Given the description of an element on the screen output the (x, y) to click on. 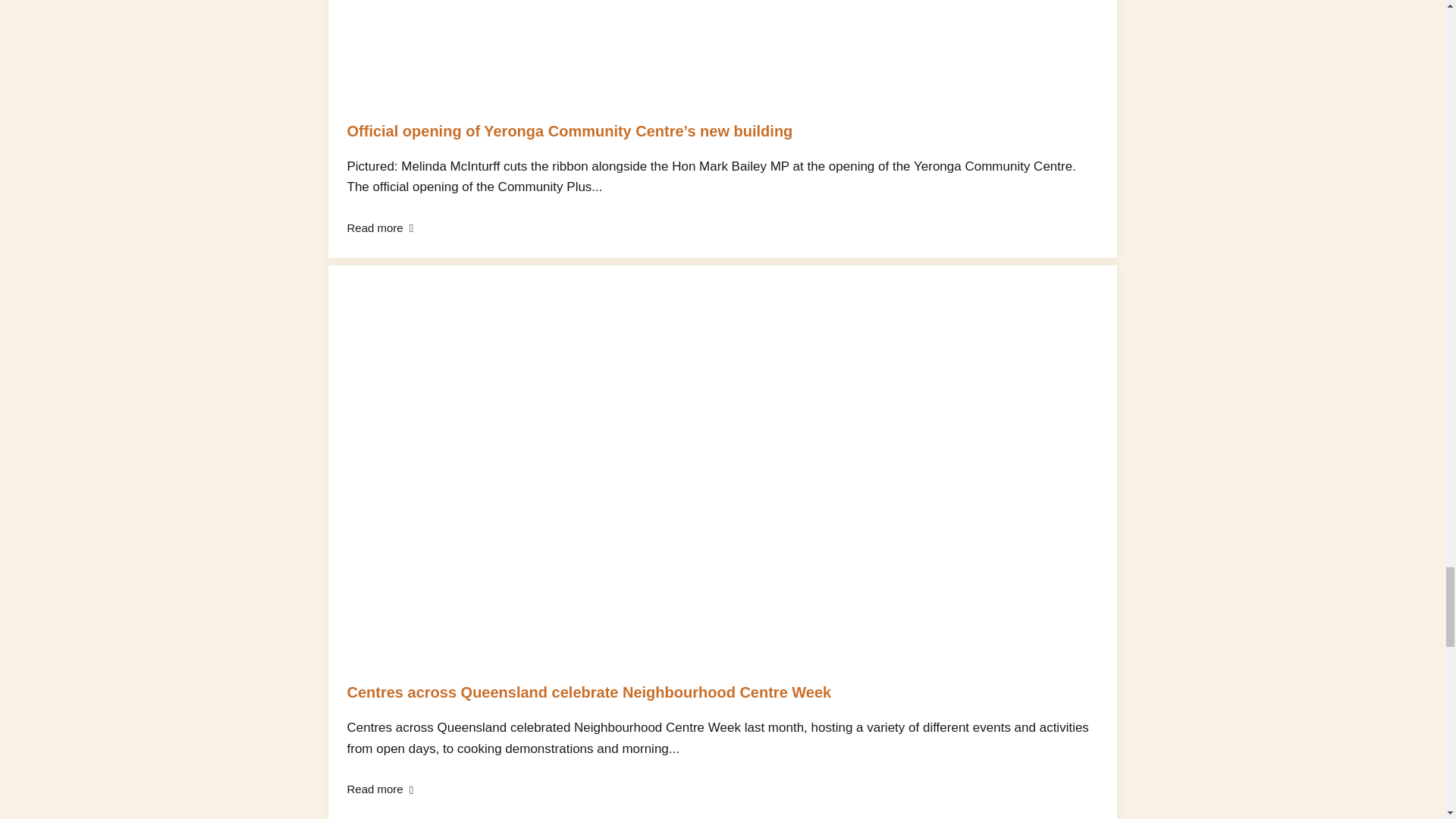
Read more (380, 788)
Read more (380, 227)
